Given the description of an element on the screen output the (x, y) to click on. 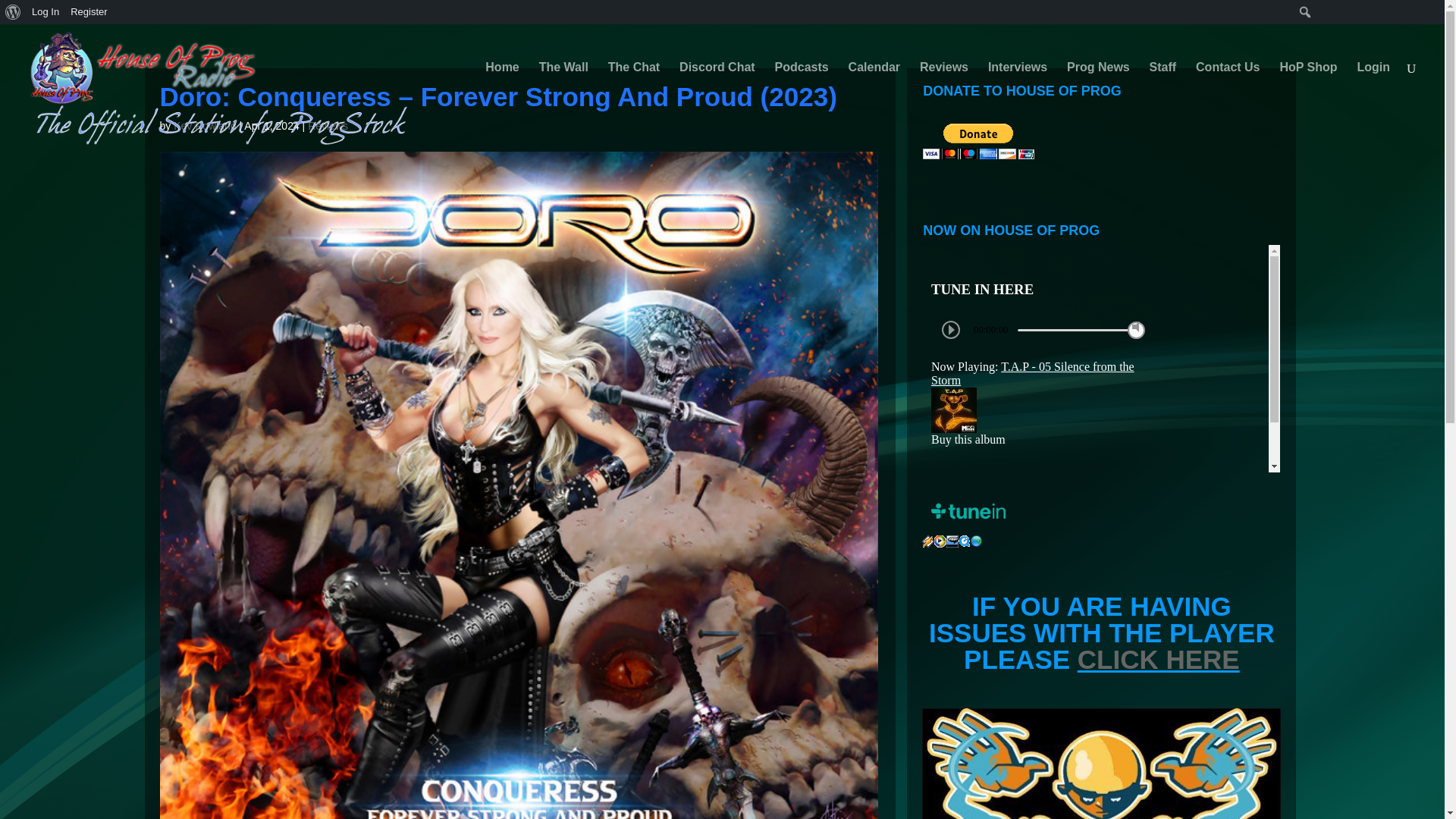
Podcasts (801, 86)
Log In (45, 12)
Discord Chat (717, 86)
Interviews (1017, 86)
Winamp, iTunes (927, 541)
Kev Rowland (204, 125)
Register (89, 12)
CLICK HERE (1158, 659)
Prog News (1098, 86)
The Chat (633, 86)
